Given the description of an element on the screen output the (x, y) to click on. 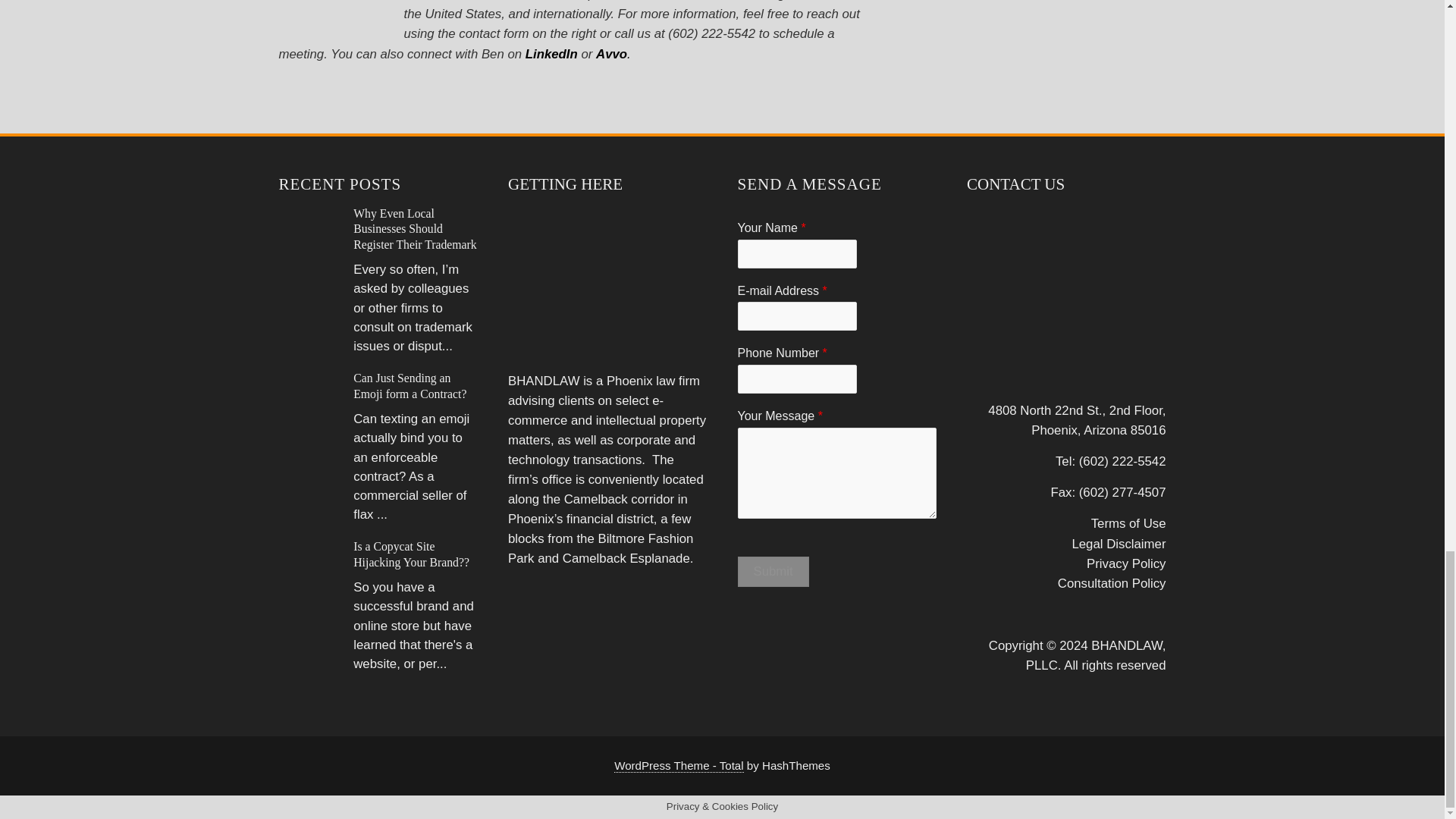
Why Even Local Businesses Should Register Their Trademark (414, 228)
LinkedIn (551, 53)
Avvo. (612, 53)
Can Just Sending an Emoji form a Contract? (409, 385)
